Given the description of an element on the screen output the (x, y) to click on. 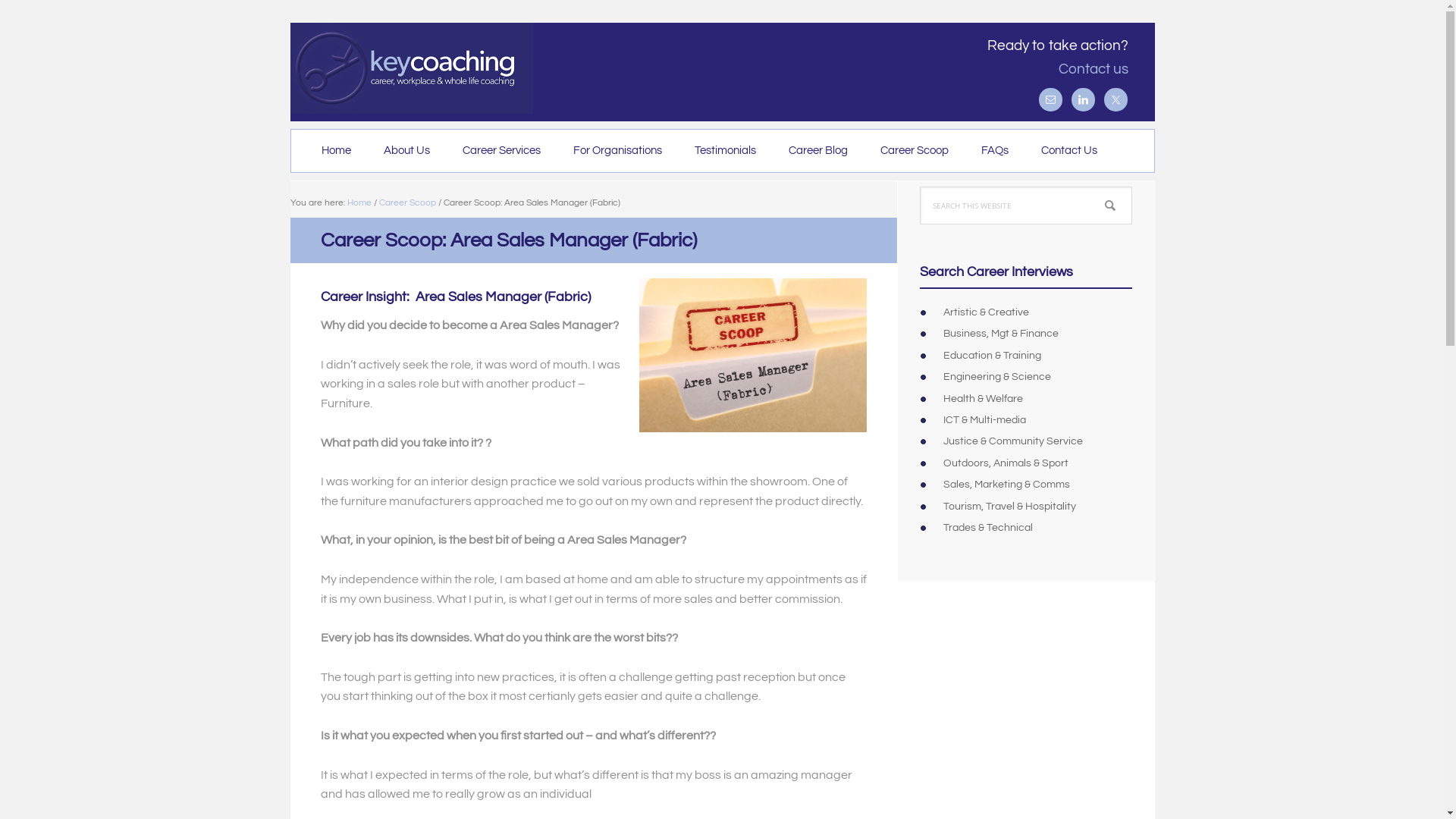
Key Coaching, Brisbane: Career Advice & Interview Training Element type: text (410, 67)
Skip to primary navigation Element type: text (289, 0)
Search Element type: text (1131, 185)
Tourism, Travel & Hospitality Element type: text (1009, 506)
Testimonials Element type: text (725, 150)
Contact Us Element type: text (1068, 150)
Career Scoop Element type: text (913, 150)
Outdoors, Animals & Sport Element type: text (1005, 463)
Career Scoop Element type: text (407, 202)
For Organisations Element type: text (617, 150)
Home Element type: text (336, 150)
Artistic & Creative Element type: text (986, 312)
Justice & Community Service Element type: text (1012, 441)
Health & Welfare Element type: text (982, 398)
Career Blog Element type: text (817, 150)
Education & Training Element type: text (992, 355)
Home Element type: text (359, 202)
Trades & Technical Element type: text (987, 527)
Business, Mgt & Finance Element type: text (1000, 333)
Contact us Element type: text (1093, 68)
FAQs Element type: text (994, 150)
Engineering & Science Element type: text (997, 376)
Sales, Marketing & Comms Element type: text (1006, 484)
About Us Element type: text (406, 150)
ICT & Multi-media Element type: text (984, 419)
Career Services Element type: text (501, 150)
